Given the description of an element on the screen output the (x, y) to click on. 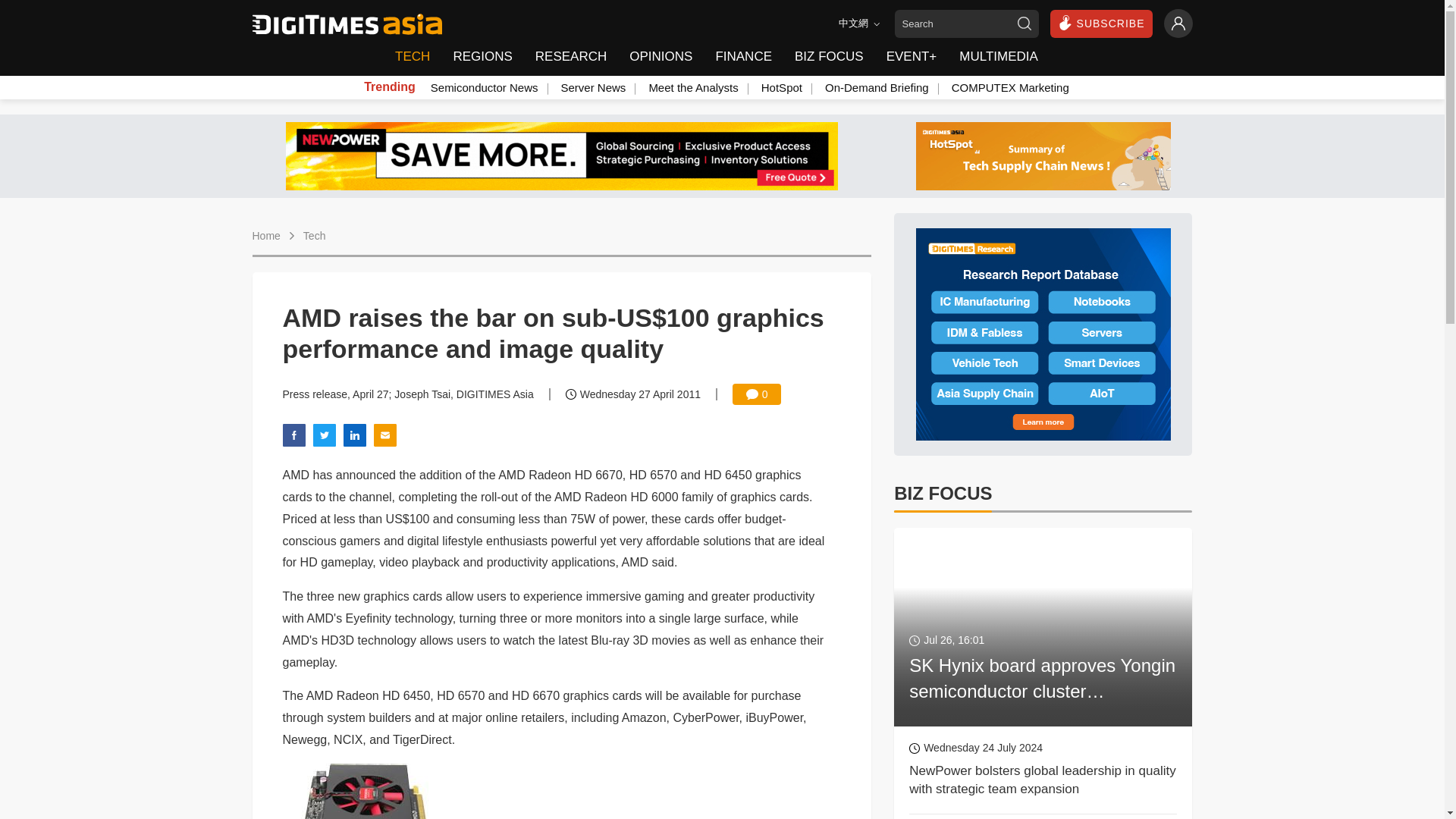
SUBSCRIBE (1101, 22)
RESEARCH (570, 56)
REGIONS (481, 56)
TECH (417, 56)
